Given the description of an element on the screen output the (x, y) to click on. 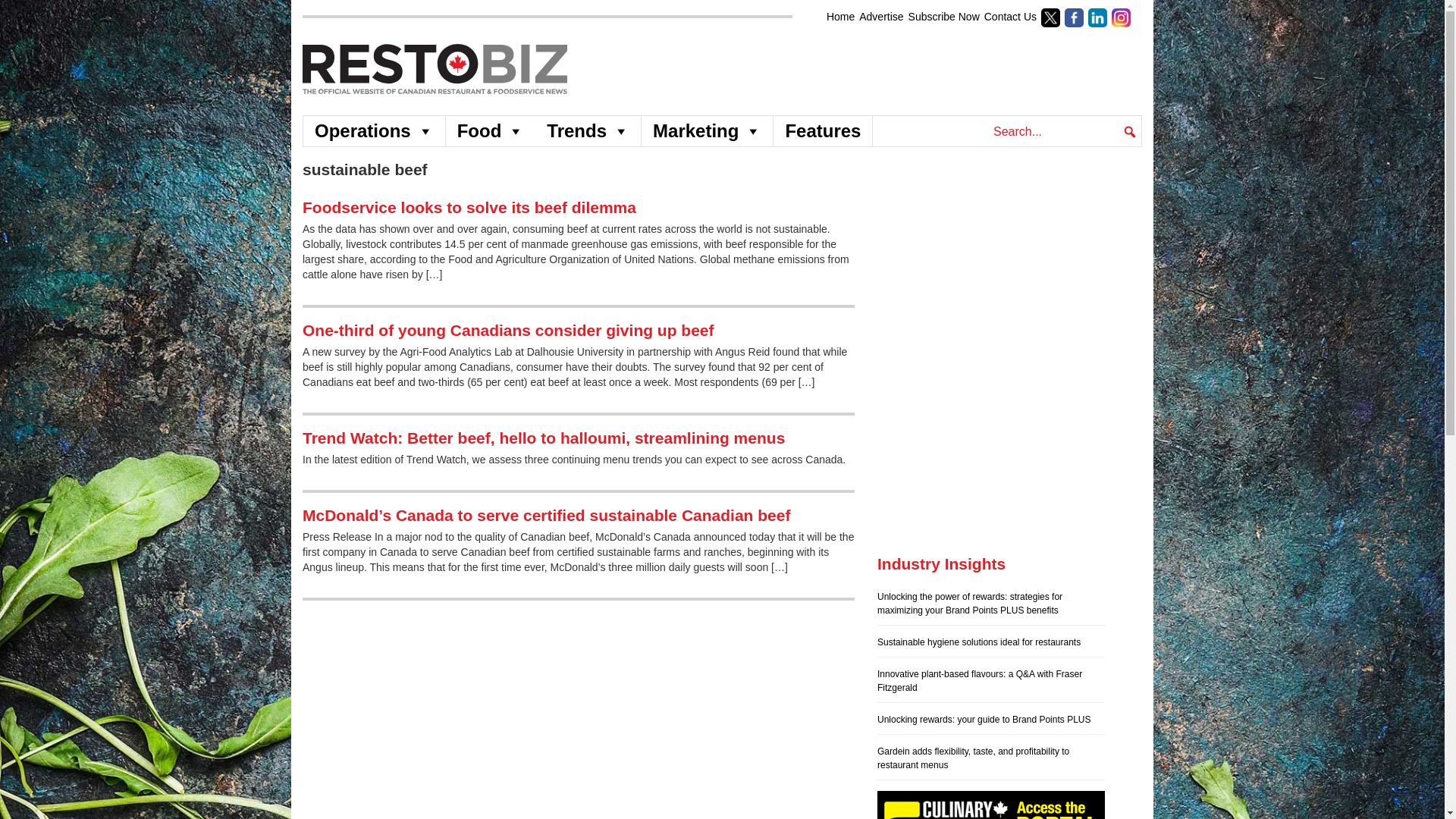
Foodservice looks to solve its beef dilemma (469, 207)
Features (822, 131)
Marketing (707, 131)
Trends (588, 131)
Restobiz (322, 52)
Food (490, 131)
Operations (373, 131)
Advertise (880, 16)
Search (25, 13)
Contact Us (1010, 16)
3rd party ad content (991, 253)
3rd party ad content (865, 70)
Industry Insights (941, 563)
Subscribe Now (943, 16)
Home (840, 16)
